Given the description of an element on the screen output the (x, y) to click on. 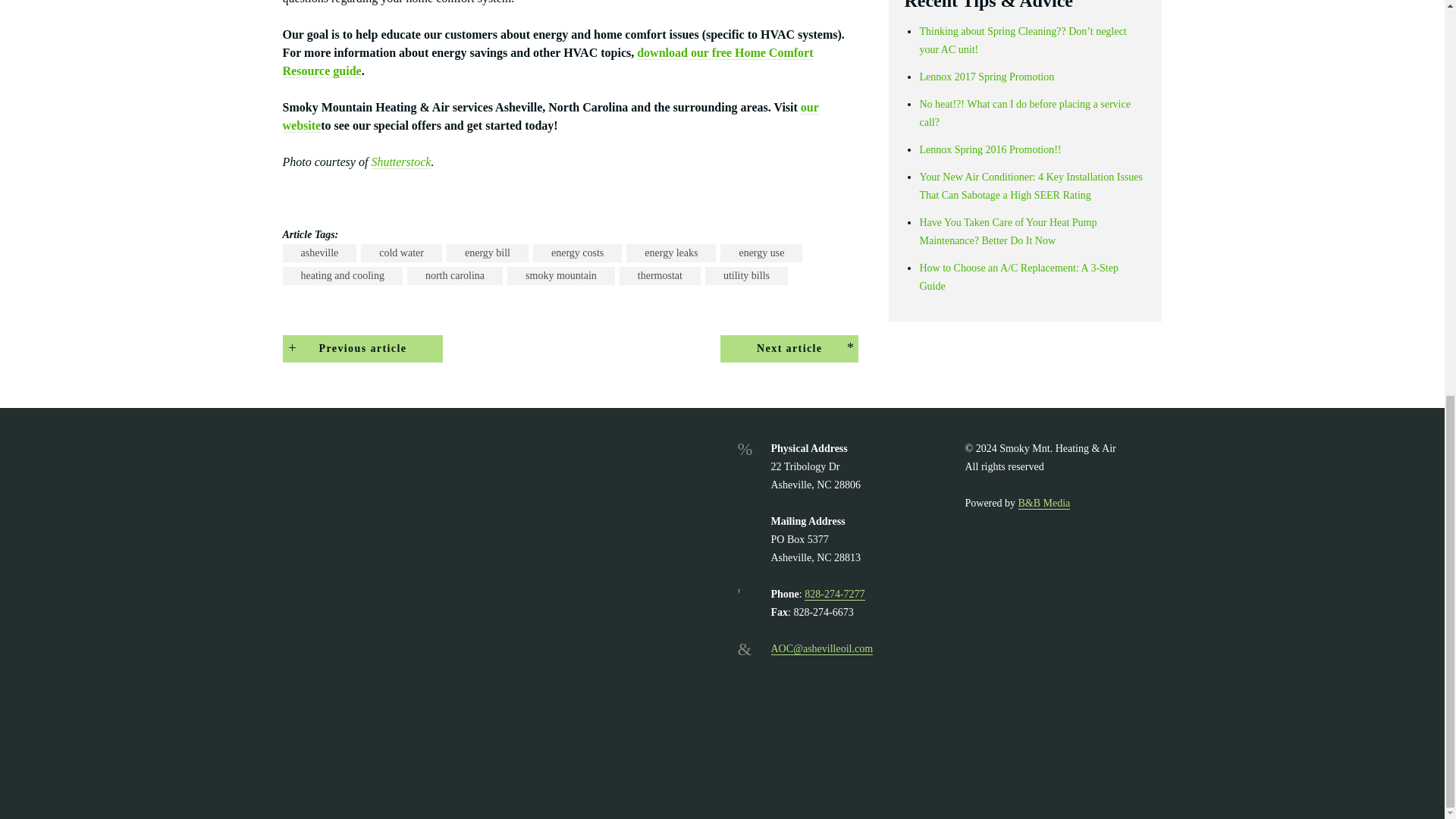
energy costs (576, 253)
energy leaks (671, 253)
download our free Home Comfort Resource guide (547, 61)
cold water (401, 253)
energy bill (487, 253)
our website (550, 116)
asheville (319, 253)
Shutterstock (400, 161)
